Given the description of an element on the screen output the (x, y) to click on. 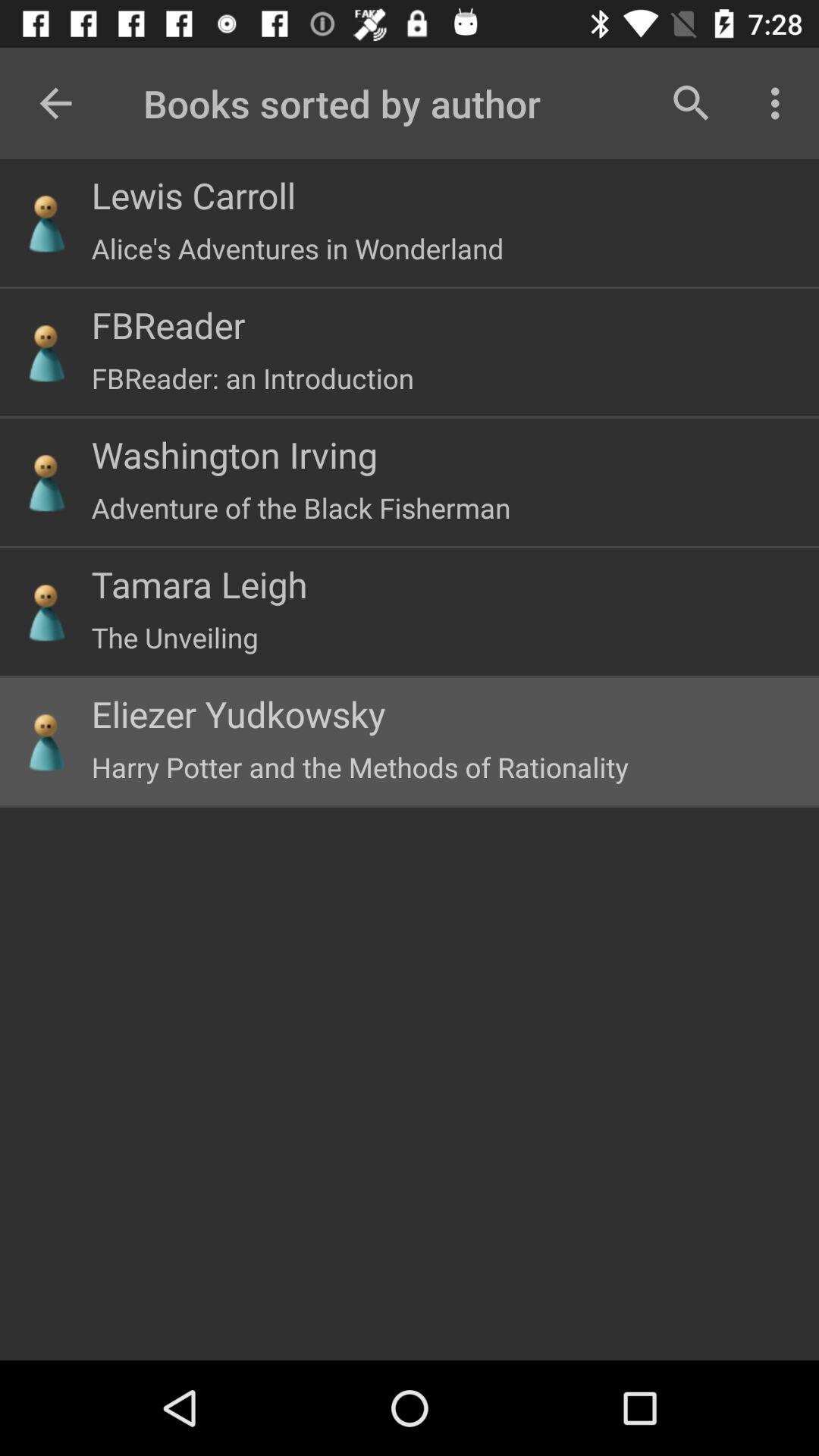
scroll until harry potter and icon (359, 767)
